Given the description of an element on the screen output the (x, y) to click on. 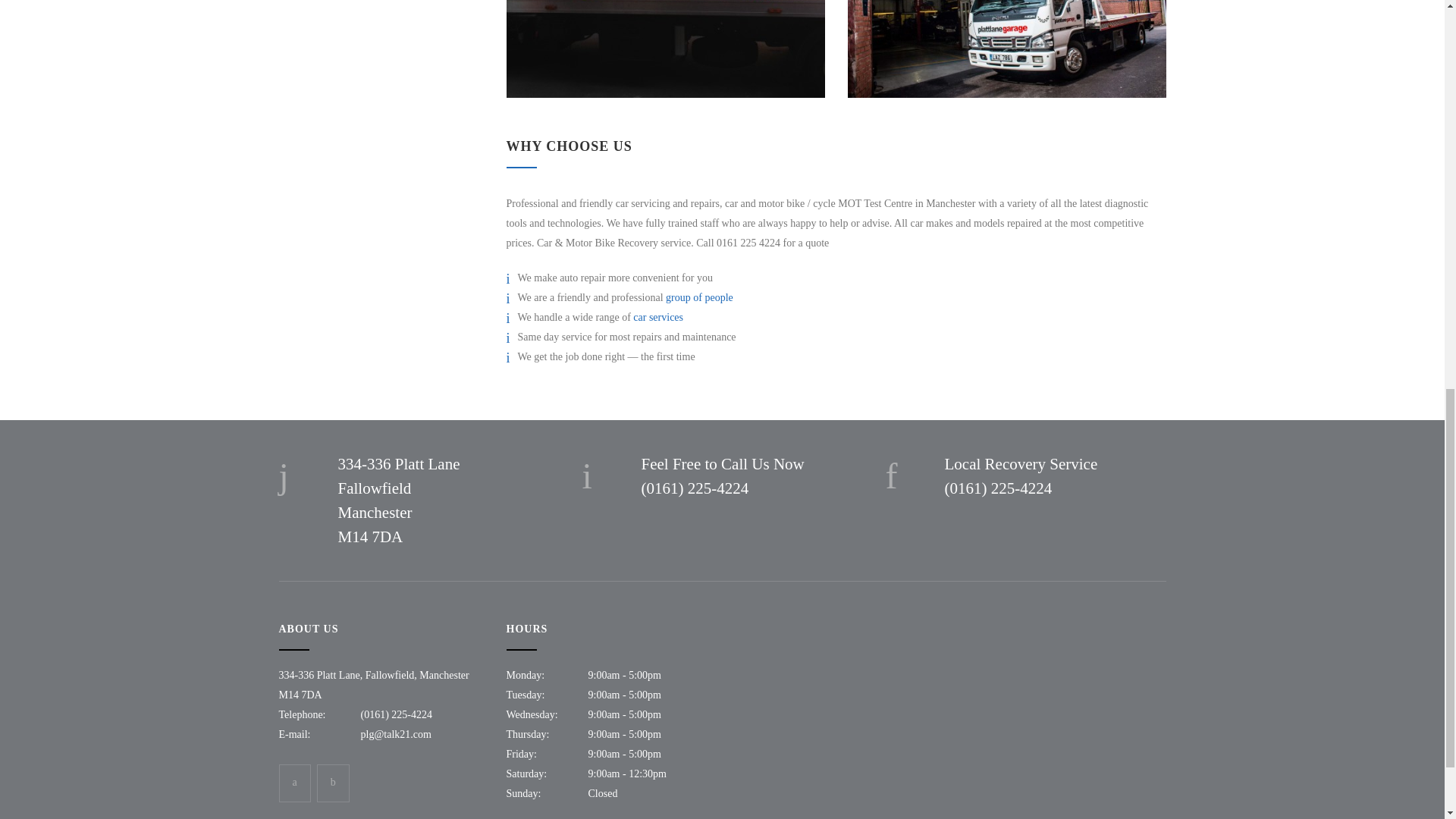
car services (657, 317)
group of people (699, 297)
